Given the description of an element on the screen output the (x, y) to click on. 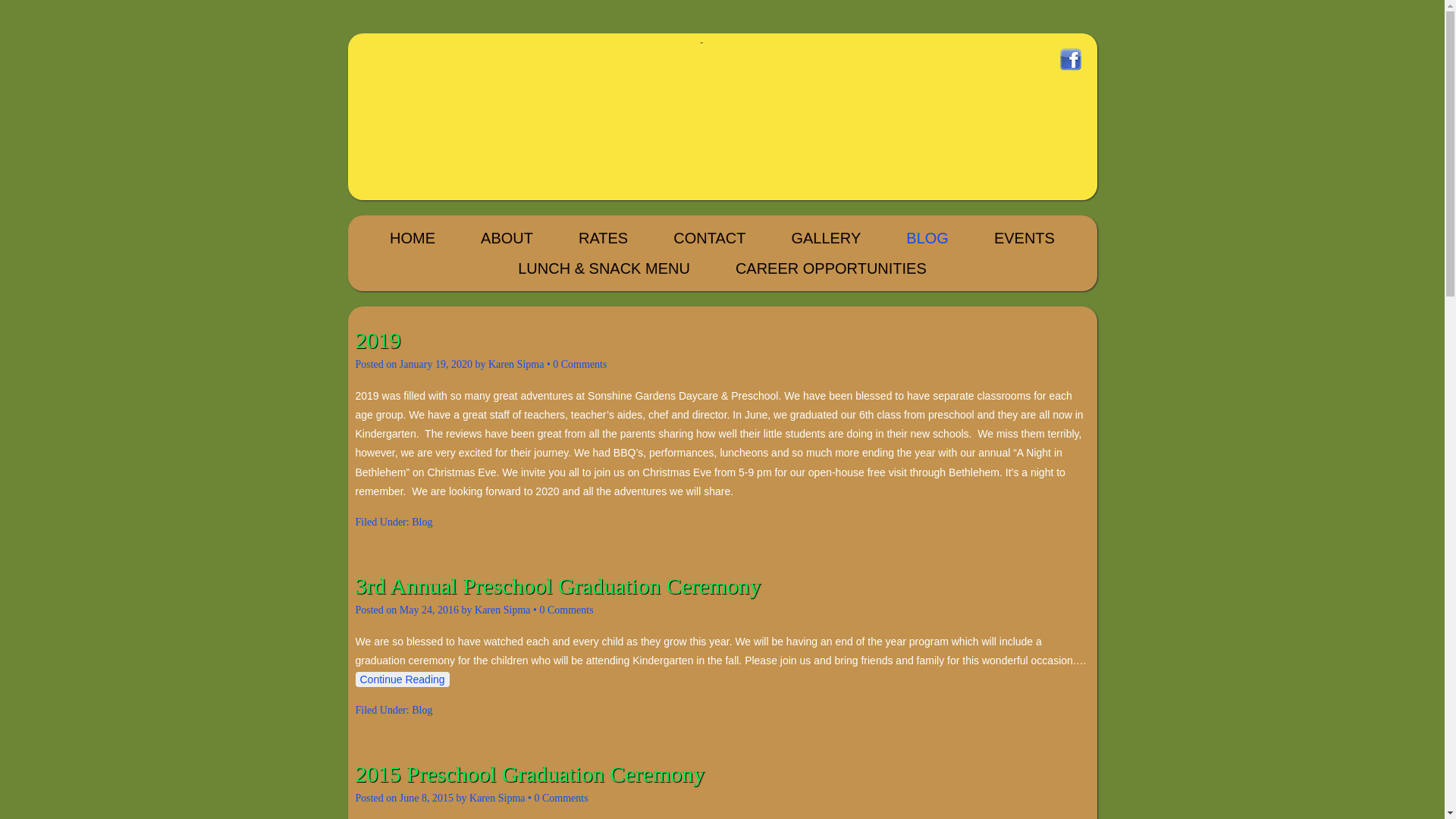
HOME (412, 237)
0 Comments (561, 797)
Karen Sipma (515, 364)
CAREER OPPORTUNITIES (830, 268)
View all posts by Karen Sipma (501, 609)
RATES (603, 237)
2019 (377, 339)
View all posts by Karen Sipma (515, 364)
BLOG (927, 237)
Karen Sipma (501, 609)
Continue Reading (401, 679)
EVENTS (1023, 237)
Blog (422, 709)
Karen Sipma (496, 797)
